Given the description of an element on the screen output the (x, y) to click on. 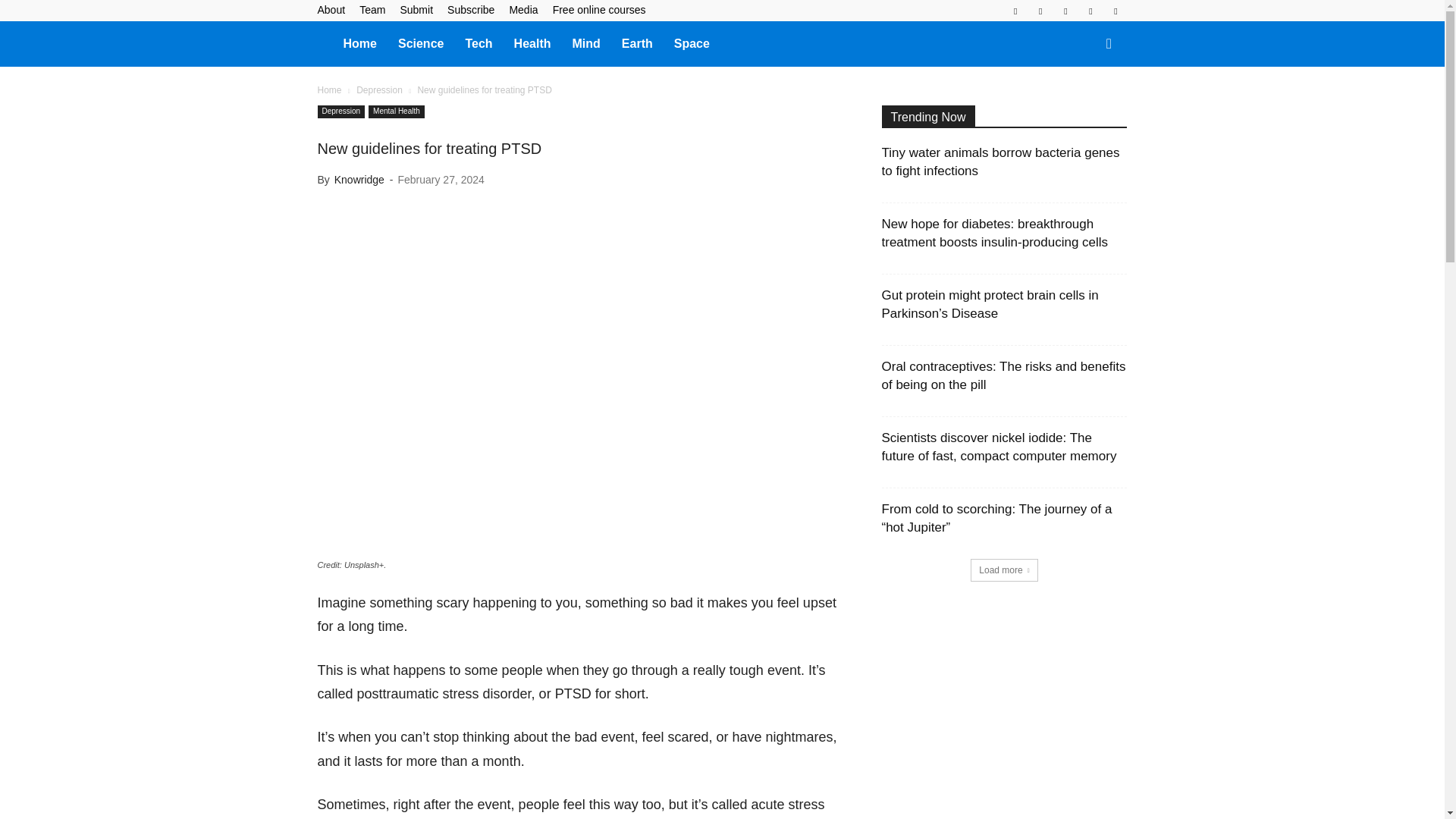
Media (522, 9)
View all posts in Depression (379, 90)
Facebook (1015, 10)
Website (1114, 10)
Linkedin (1040, 10)
About (331, 9)
Free online courses (599, 9)
Submit (415, 9)
RSS (1065, 10)
Subscribe (470, 9)
Team (372, 9)
Twitter (1090, 10)
